Given the description of an element on the screen output the (x, y) to click on. 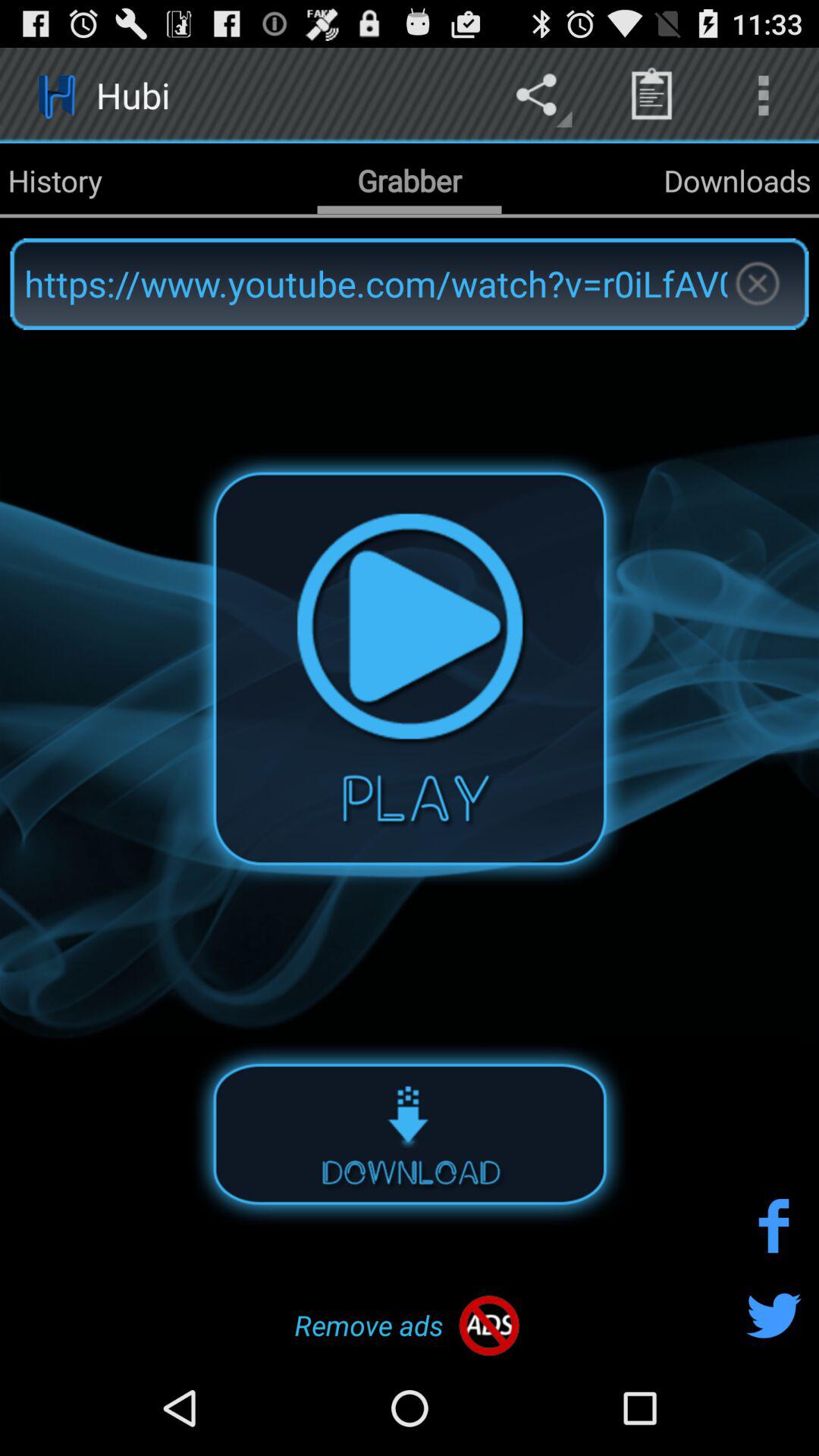
download option (409, 1133)
